Given the description of an element on the screen output the (x, y) to click on. 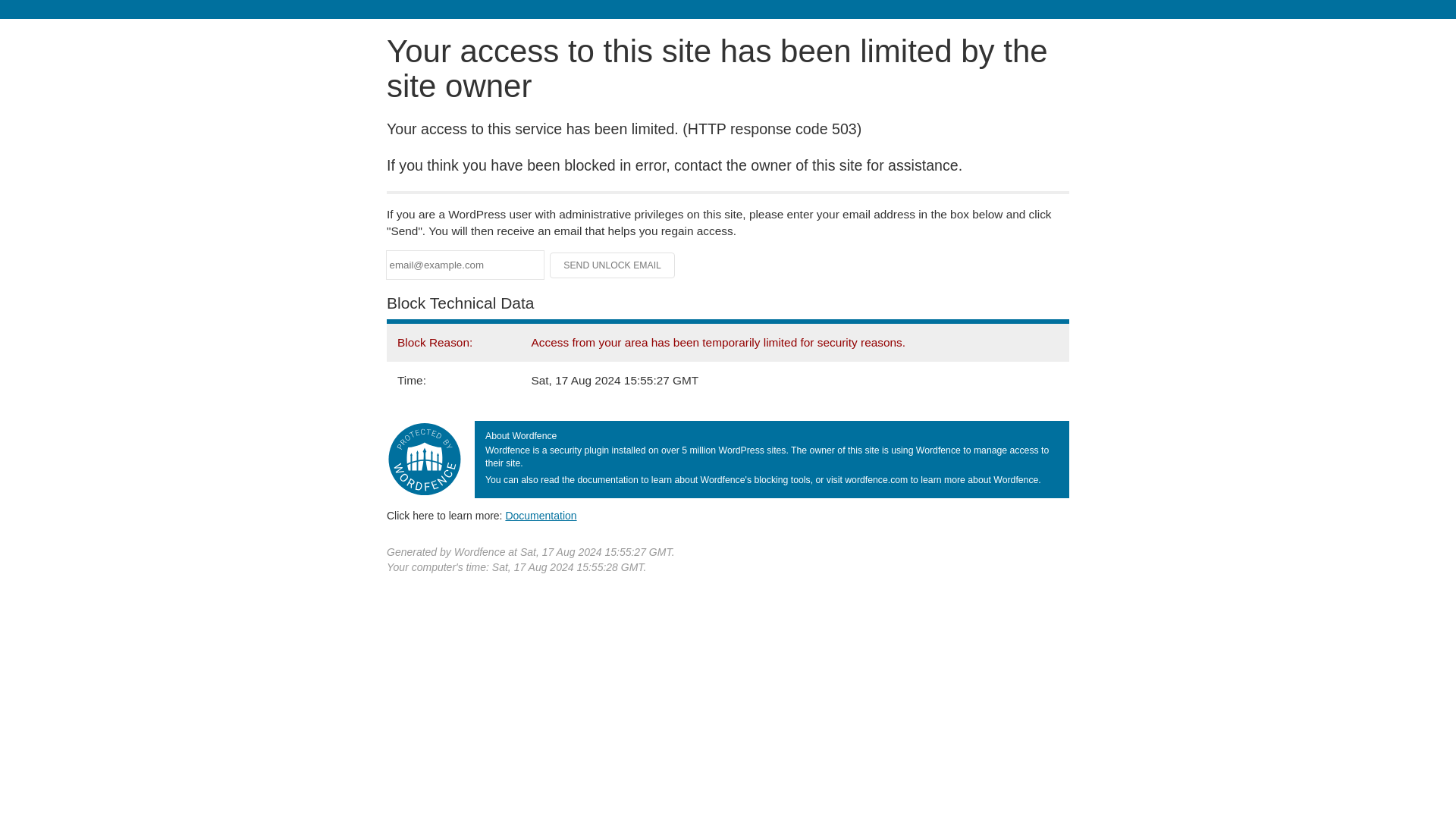
Send Unlock Email (612, 265)
Send Unlock Email (612, 265)
Documentation (540, 515)
